Given the description of an element on the screen output the (x, y) to click on. 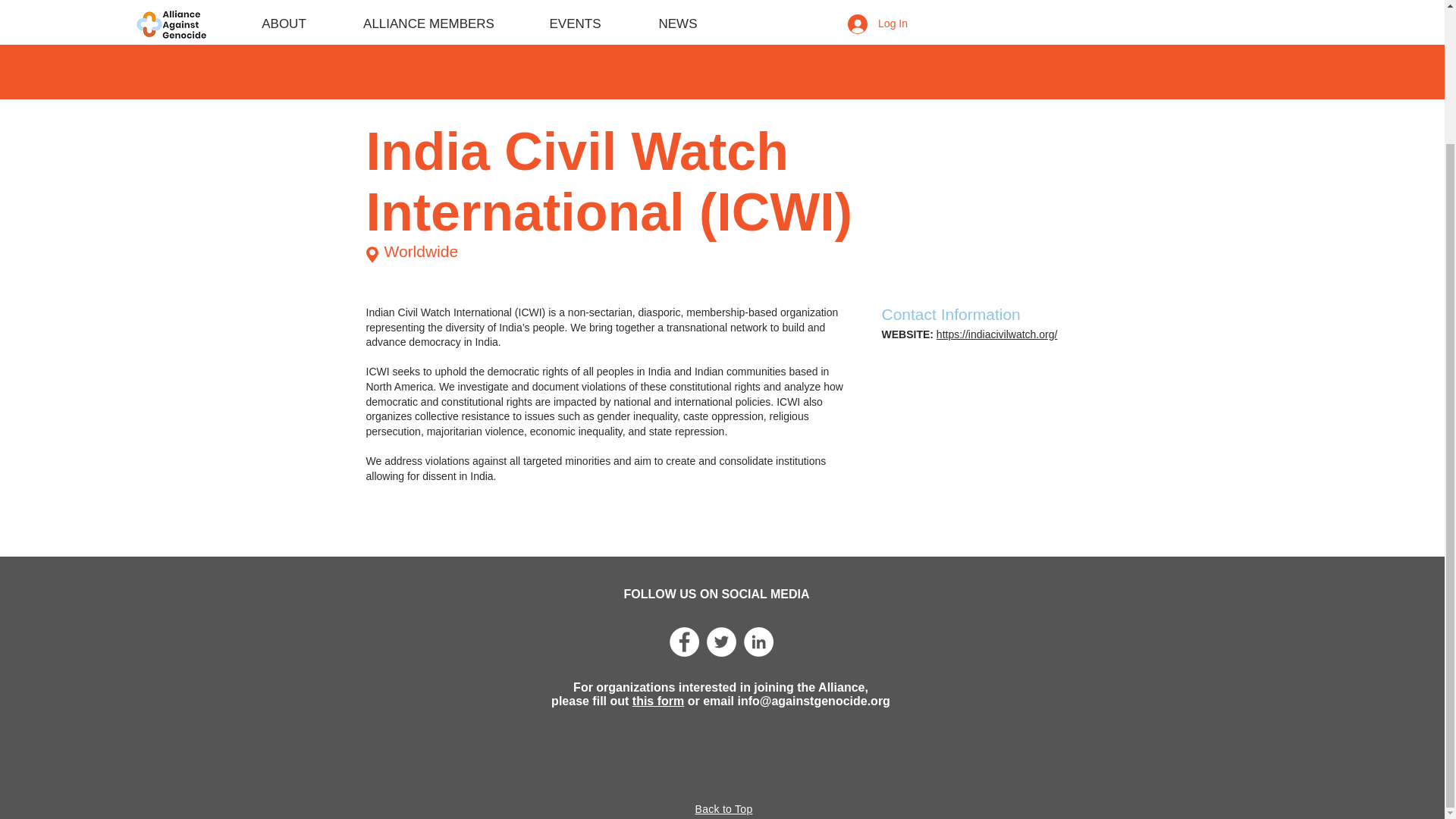
this form (657, 700)
WEBSITE: (908, 334)
Back to Top (723, 808)
